Given the description of an element on the screen output the (x, y) to click on. 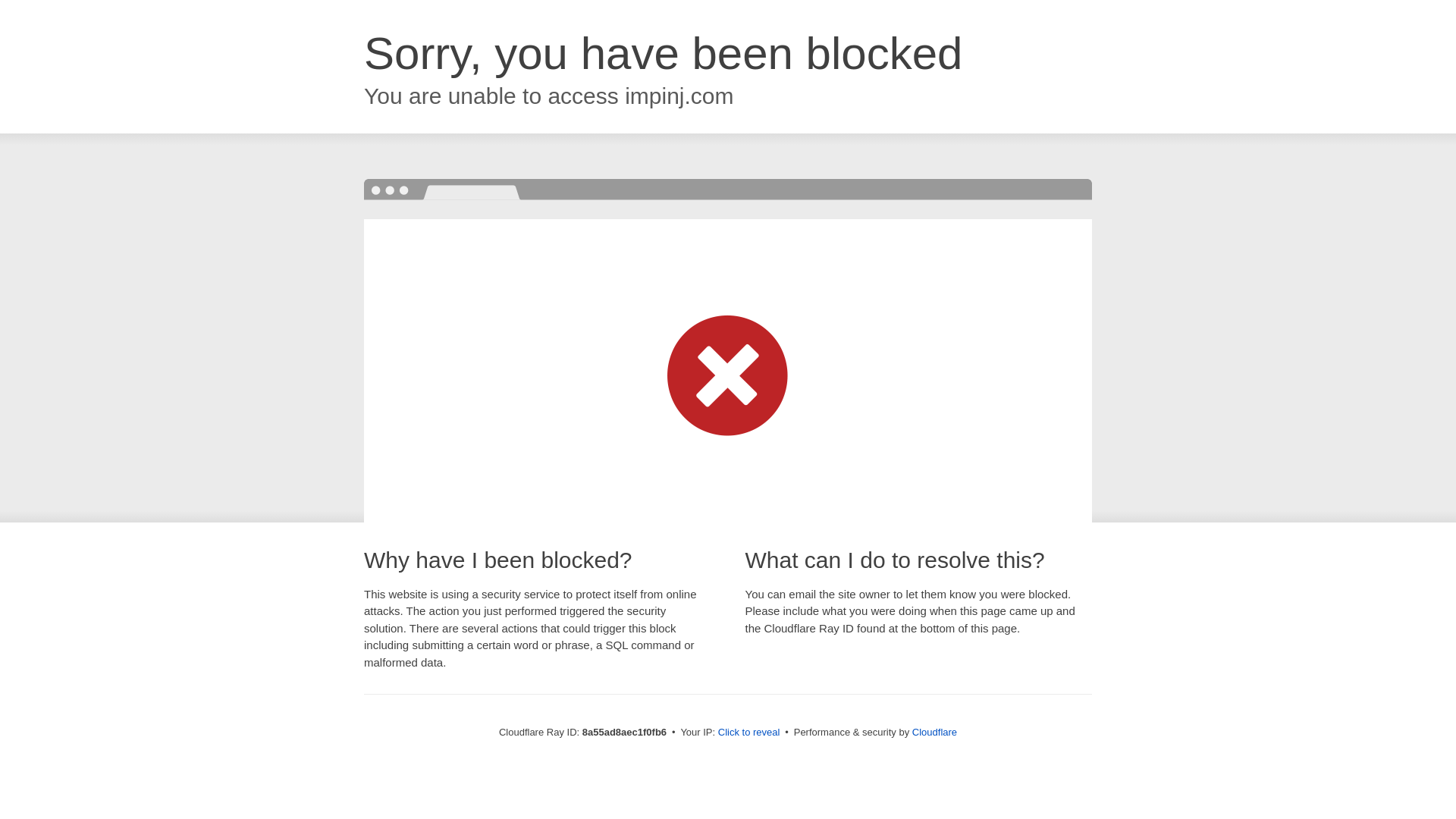
Cloudflare (934, 731)
Click to reveal (748, 732)
